Given the description of an element on the screen output the (x, y) to click on. 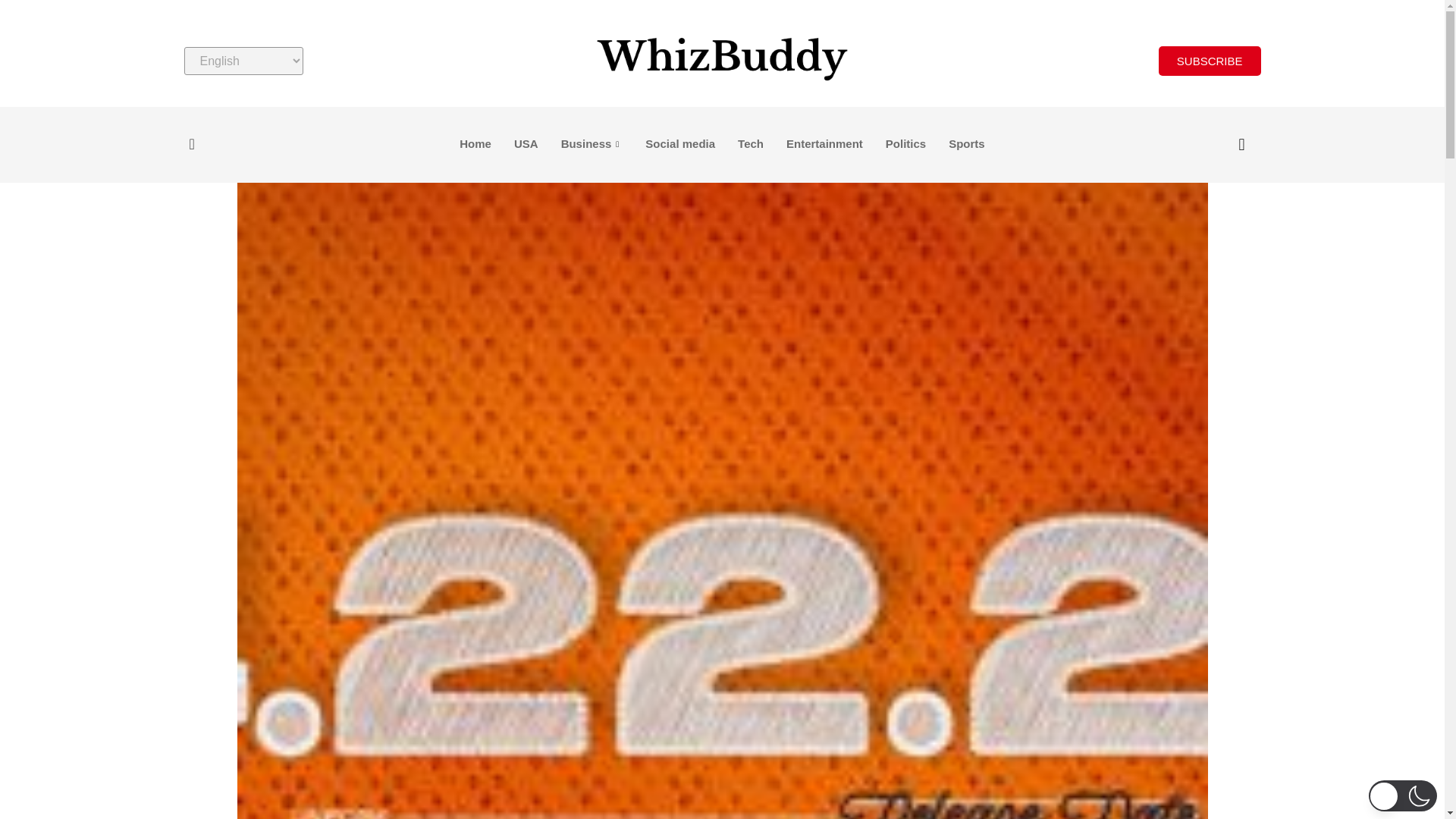
Politics (906, 144)
Home (475, 144)
Entertainment (824, 144)
Sports (966, 144)
SUBSCRIBE (1209, 60)
Social media (679, 144)
Business (592, 144)
